Given the description of an element on the screen output the (x, y) to click on. 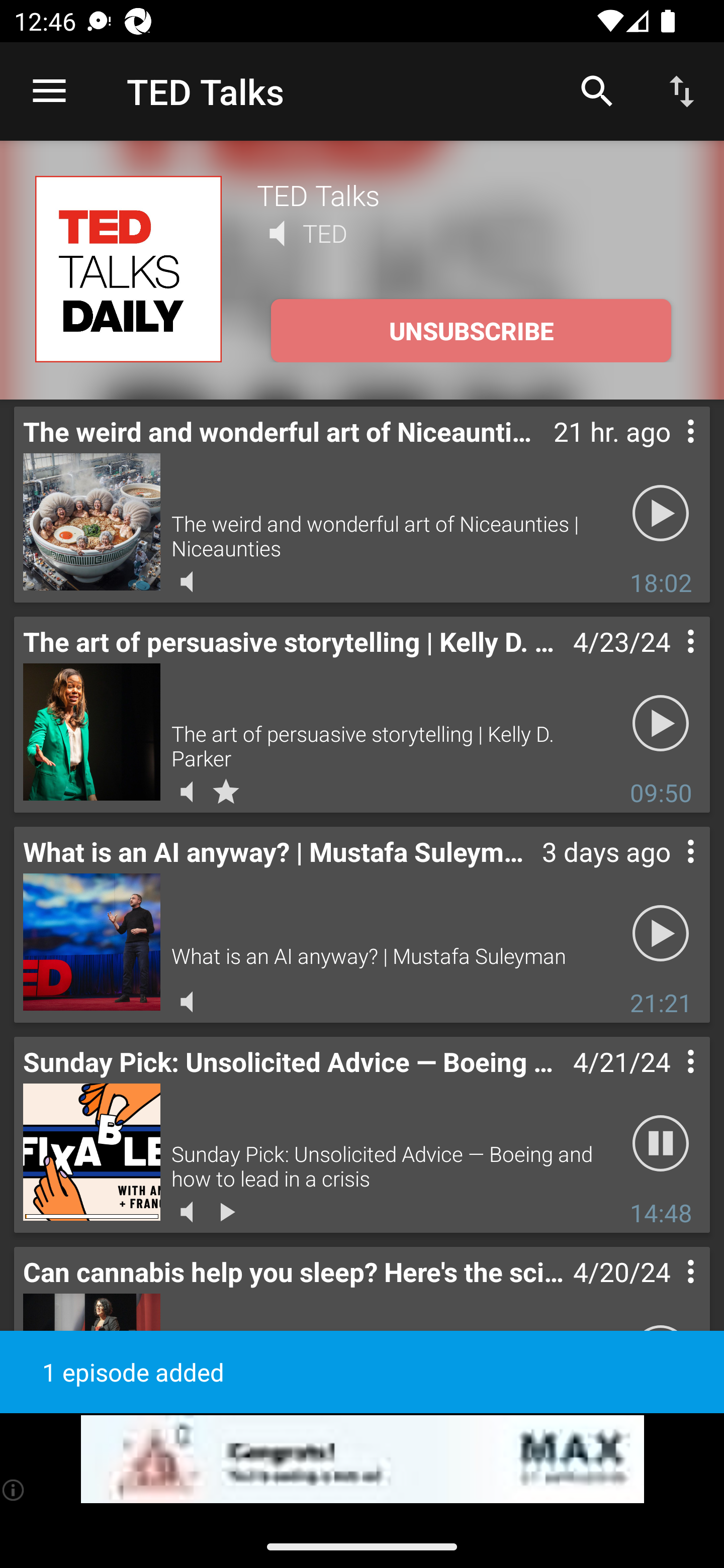
Open navigation sidebar (49, 91)
Search (597, 90)
Sort (681, 90)
UNSUBSCRIBE (470, 330)
Contextual menu (668, 451)
Play (660, 513)
Contextual menu (668, 661)
Play (660, 723)
Contextual menu (668, 870)
Play (660, 933)
Contextual menu (668, 1080)
Pause (660, 1143)
Contextual menu (668, 1290)
app-monetization (362, 1459)
(i) (14, 1489)
